Given the description of an element on the screen output the (x, y) to click on. 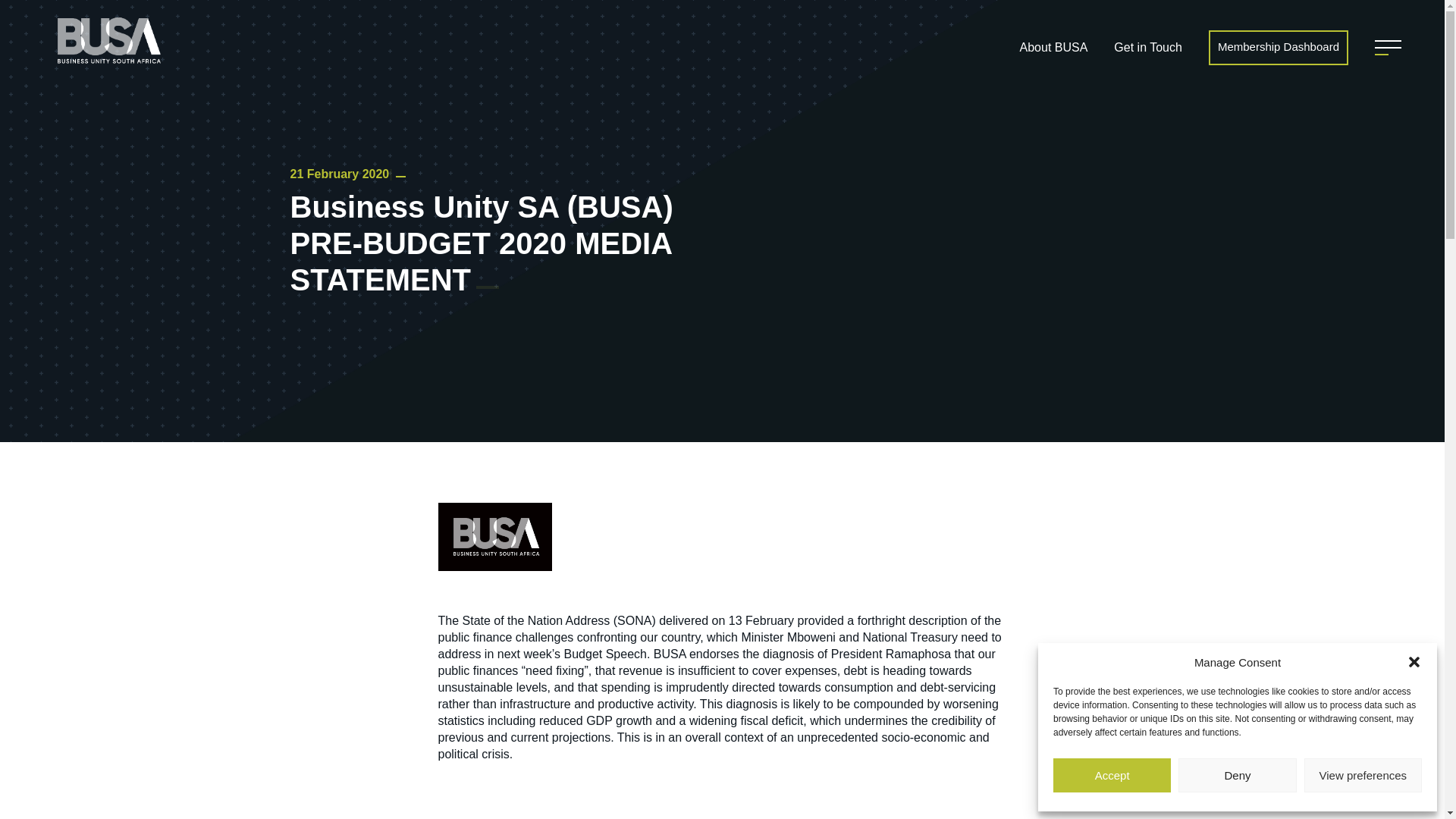
Accept (1111, 775)
About BUSA (1053, 47)
Deny (1236, 775)
View preferences (1363, 775)
Get in Touch (1147, 47)
Membership Dashboard (1278, 47)
